Given the description of an element on the screen output the (x, y) to click on. 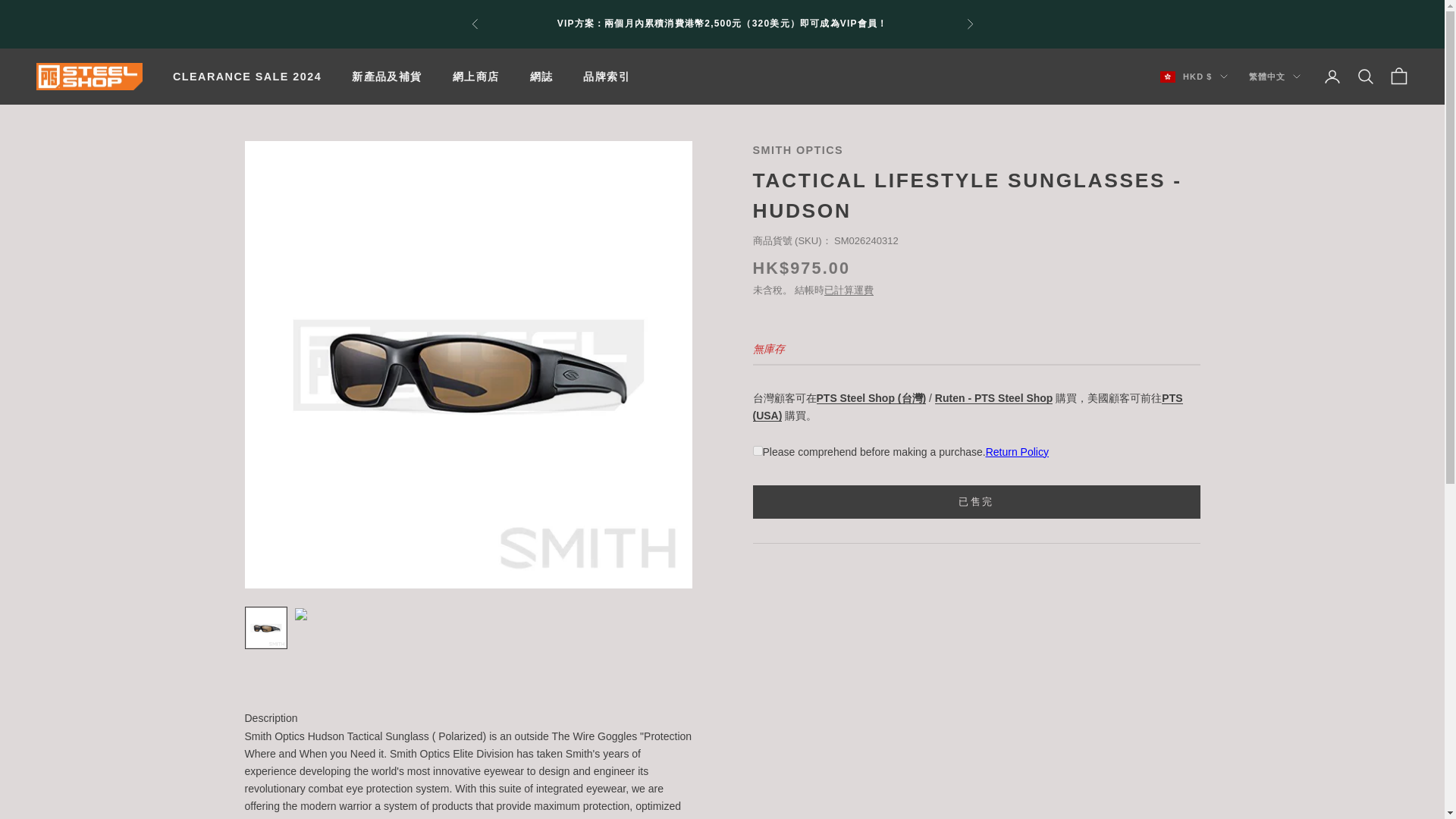
Ruten - PTS Steel Shop (993, 398)
on (756, 450)
CLEARANCE SALE 2024 (247, 76)
PTS Steel Shop (89, 76)
